Given the description of an element on the screen output the (x, y) to click on. 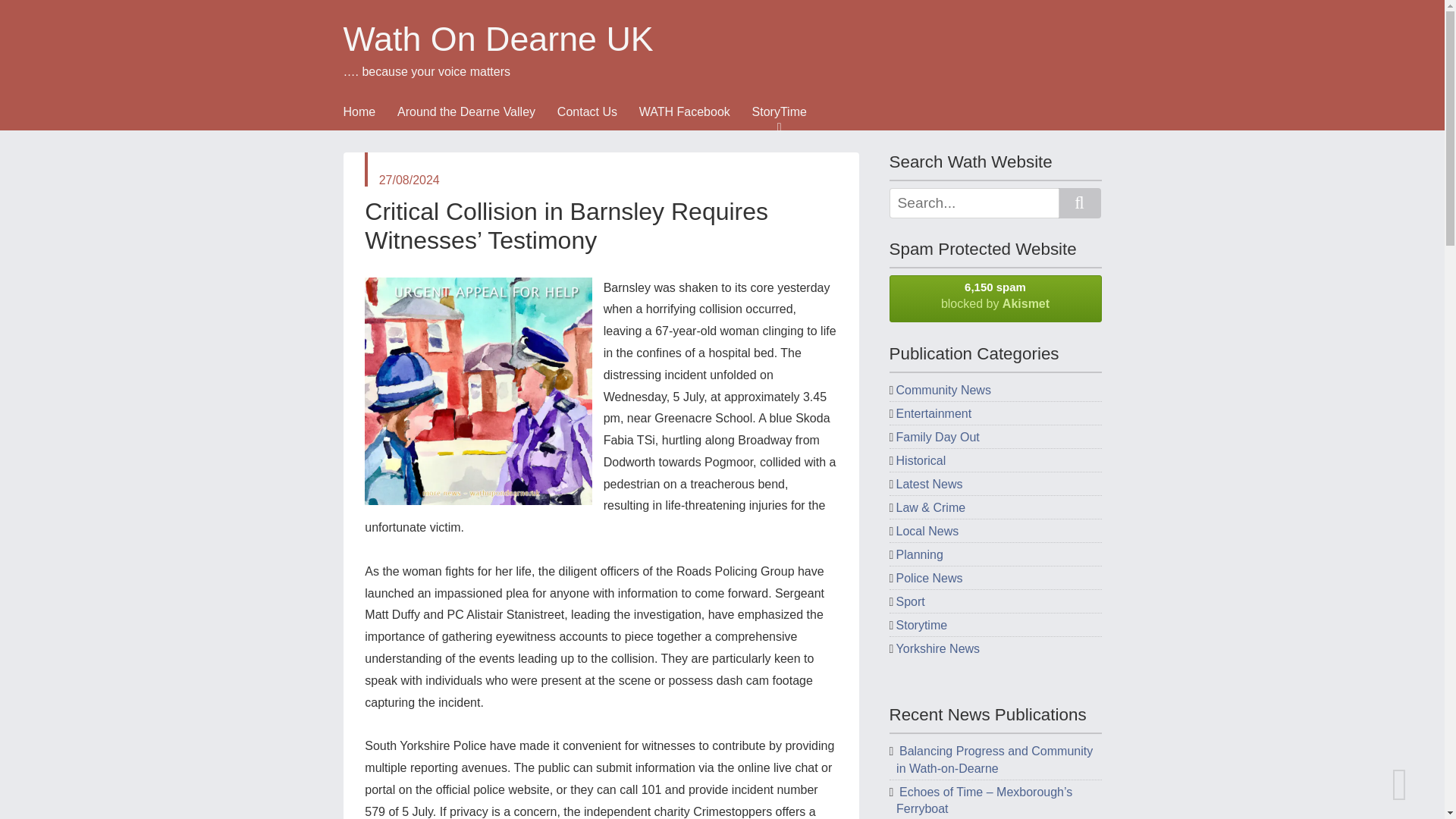
Home (369, 117)
Community News (943, 390)
Local News (927, 530)
Historical (921, 460)
StoryTime (790, 117)
Balancing Progress and Community in Wath-on-Dearne (994, 758)
Search (1079, 203)
Wath On Dearne UK (704, 39)
Family Day Out (937, 436)
Planning (919, 554)
